Given the description of an element on the screen output the (x, y) to click on. 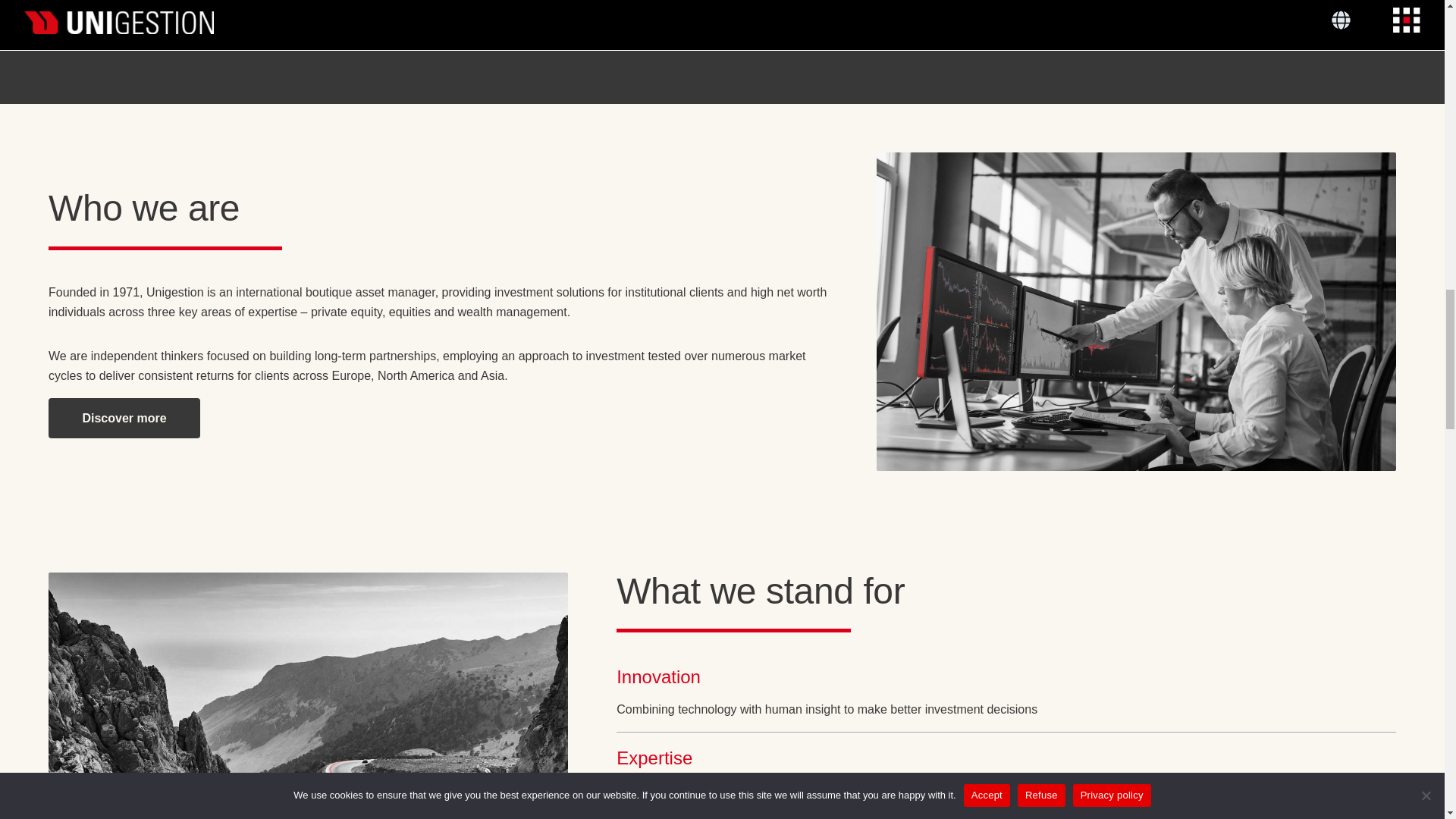
Discover more (124, 418)
